Given the description of an element on the screen output the (x, y) to click on. 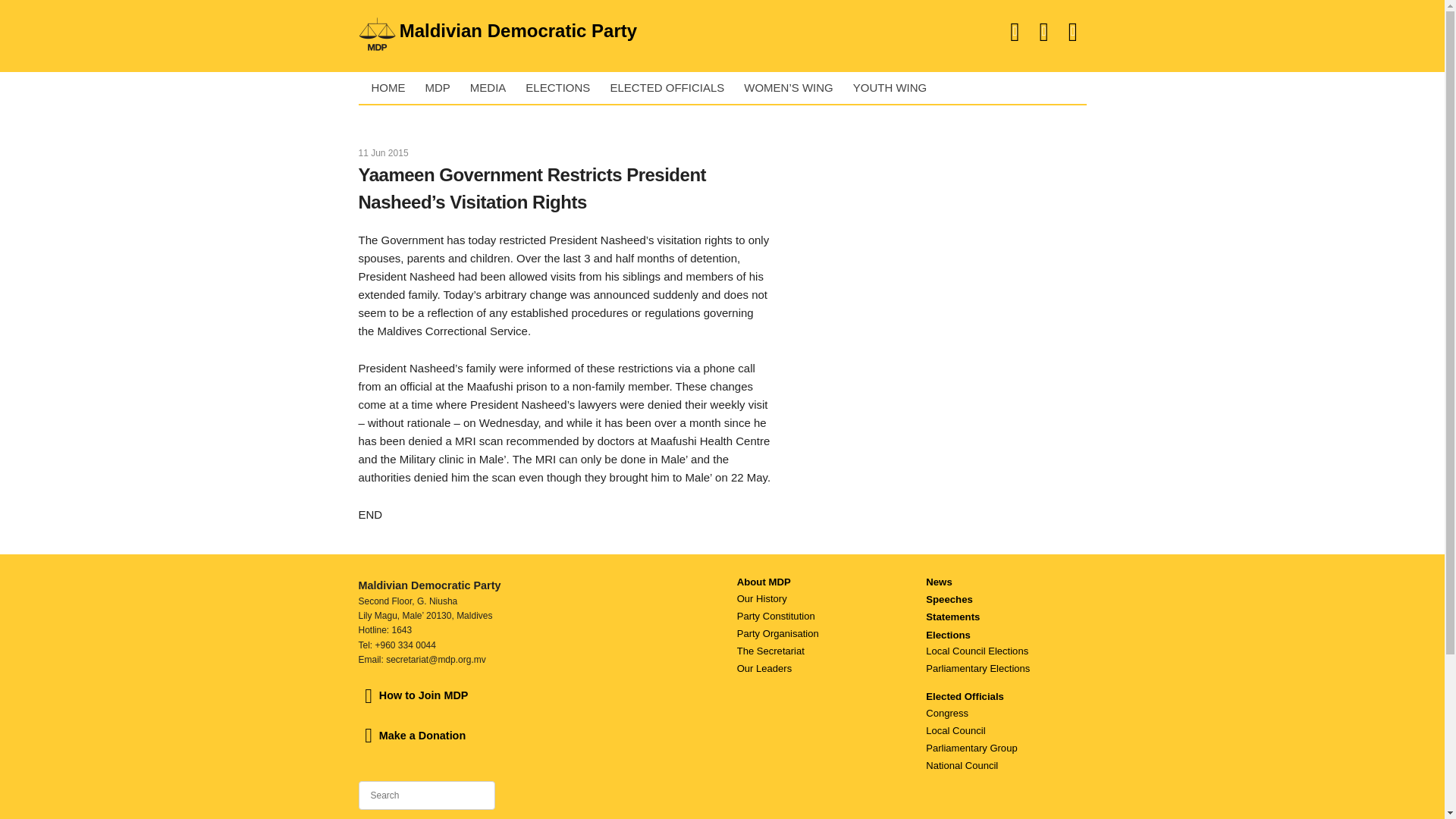
Our Leaders (764, 668)
Maldivian Democratic Party (555, 30)
MDP (434, 88)
Party Organisation (777, 633)
ELECTED OFFICIALS (663, 88)
The Secretariat (770, 650)
About MDP (763, 582)
Make a Donation (411, 735)
Statements (952, 616)
ELECTIONS (554, 88)
HOME (385, 88)
How to Join MDP (412, 695)
Our History (761, 598)
News (939, 582)
YOUTH WING (887, 88)
